Given the description of an element on the screen output the (x, y) to click on. 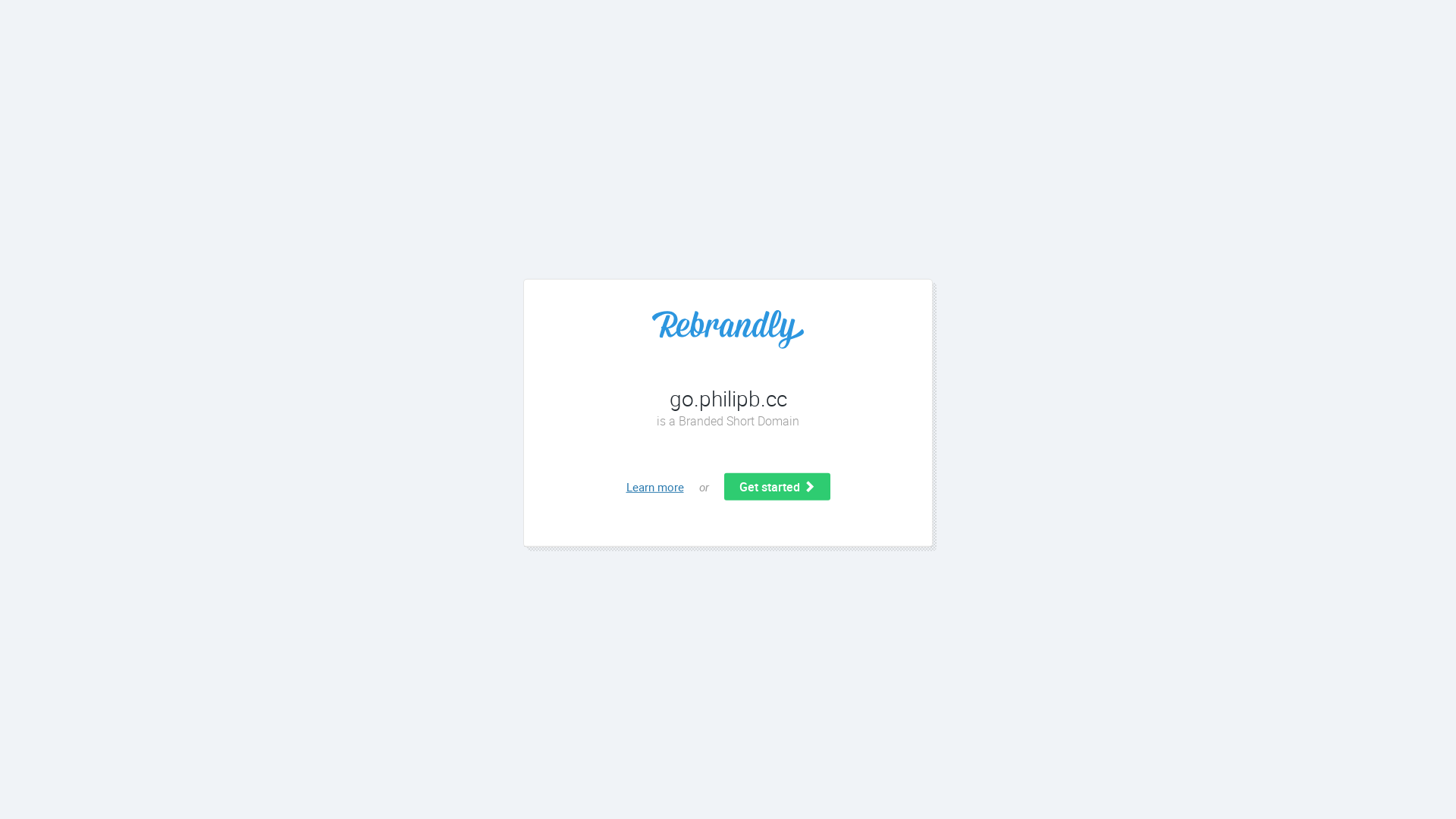
Get started Element type: text (776, 486)
Learn more Element type: text (655, 486)
